Given the description of an element on the screen output the (x, y) to click on. 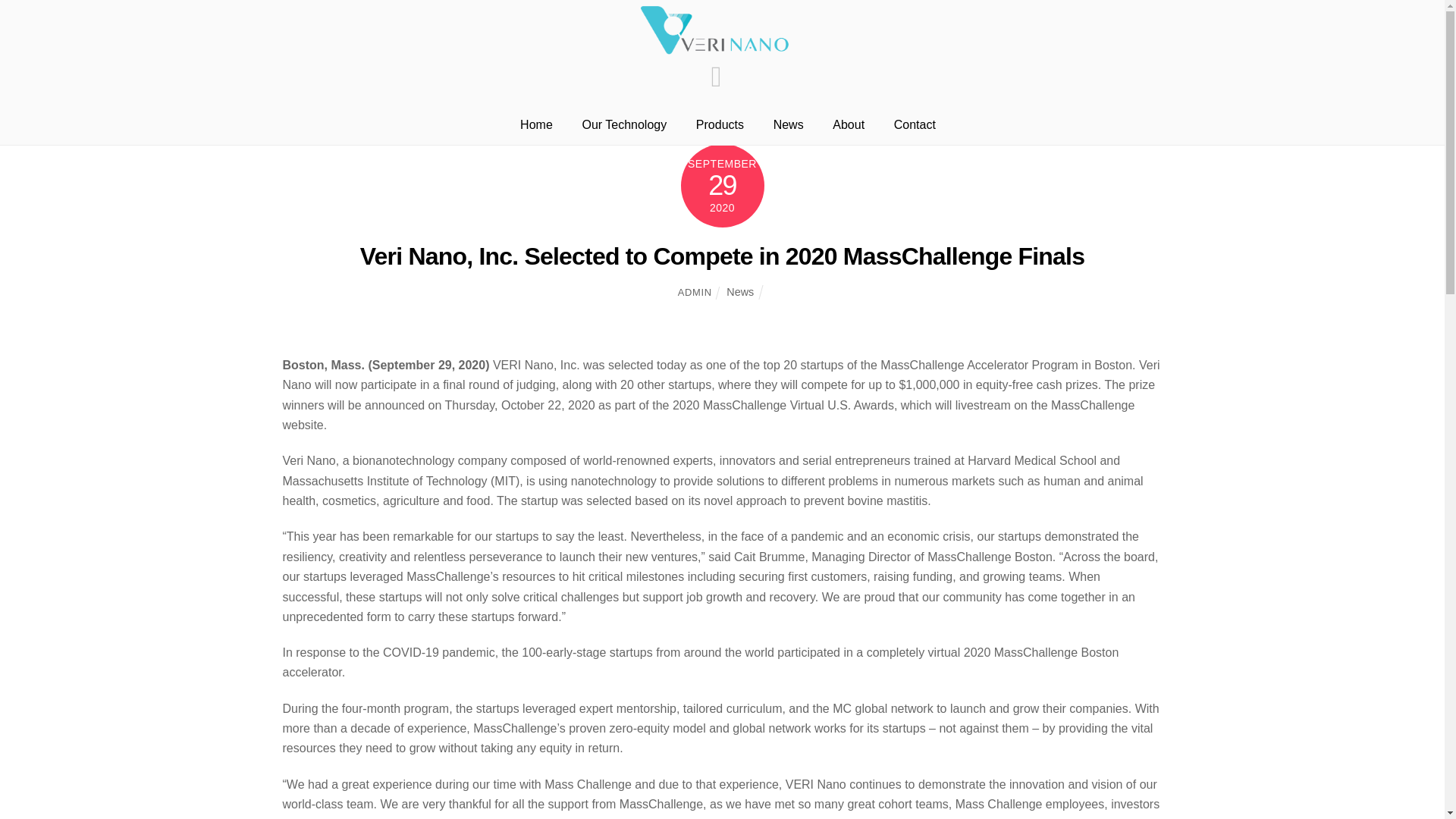
About (848, 124)
Contact (914, 124)
Home (536, 124)
News (787, 124)
VERI NANO (716, 31)
Our Technology (624, 124)
Products (719, 124)
VERI NANO (716, 50)
